Given the description of an element on the screen output the (x, y) to click on. 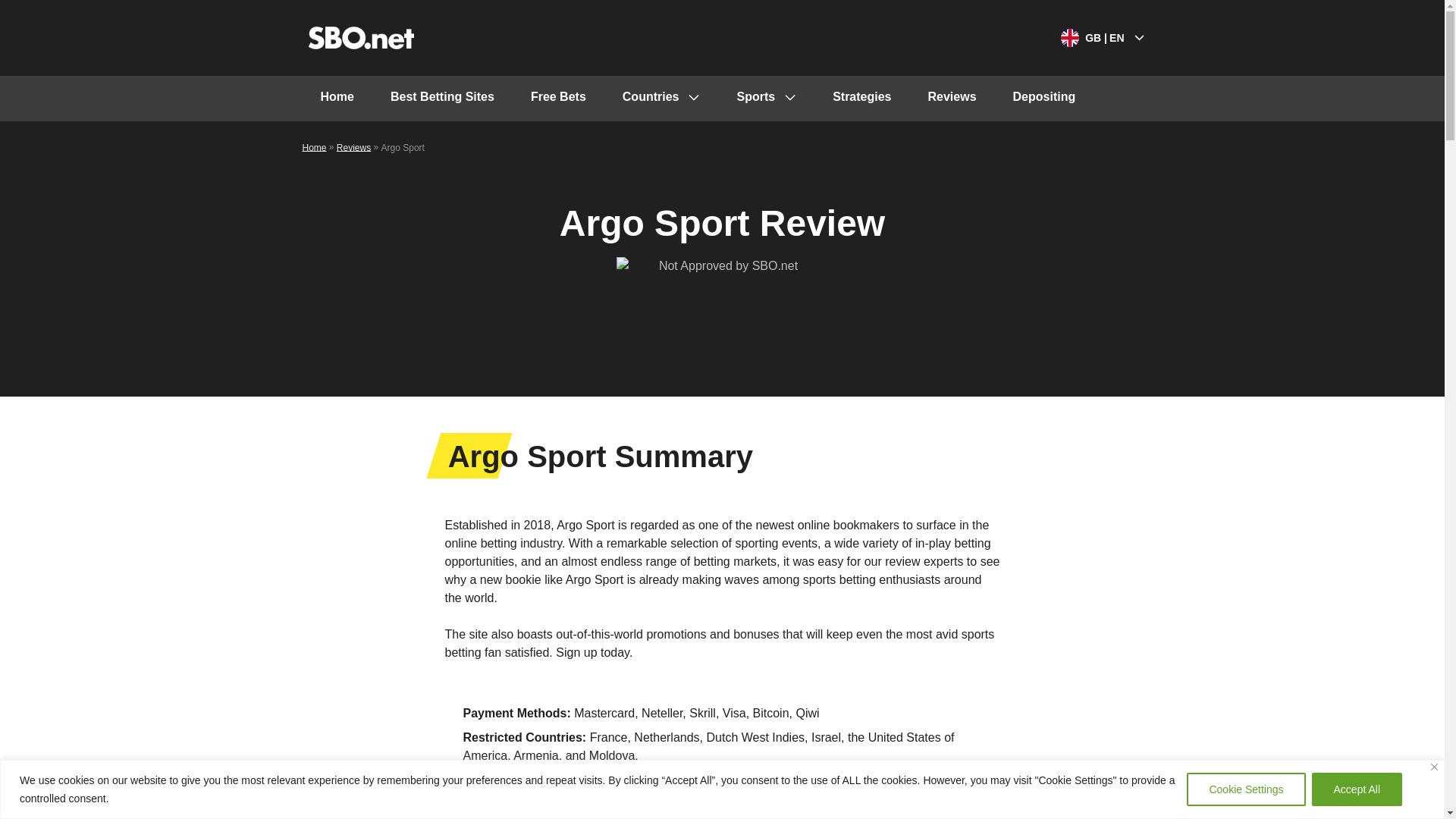
Cookie Settings (1245, 789)
Sports (765, 98)
Accept All (1356, 789)
Home (336, 98)
Free Bets (558, 98)
Countries (661, 98)
Best Betting Sites (442, 98)
